Given the description of an element on the screen output the (x, y) to click on. 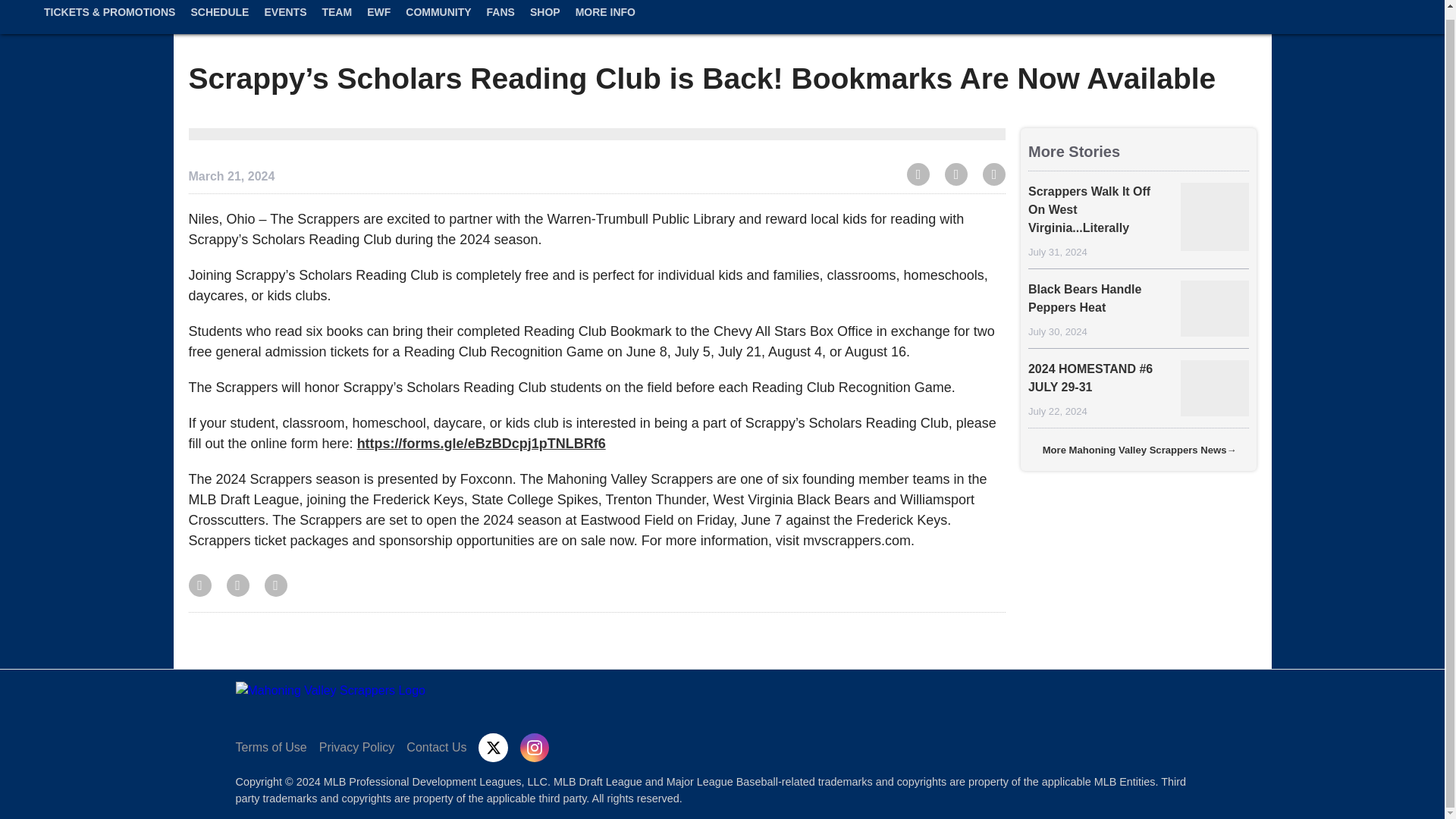
SHOP (544, 24)
SCHEDULE (219, 24)
EVENTS (285, 24)
COMMUNITY (438, 24)
TEAM (336, 24)
MORE INFO (605, 24)
